Given the description of an element on the screen output the (x, y) to click on. 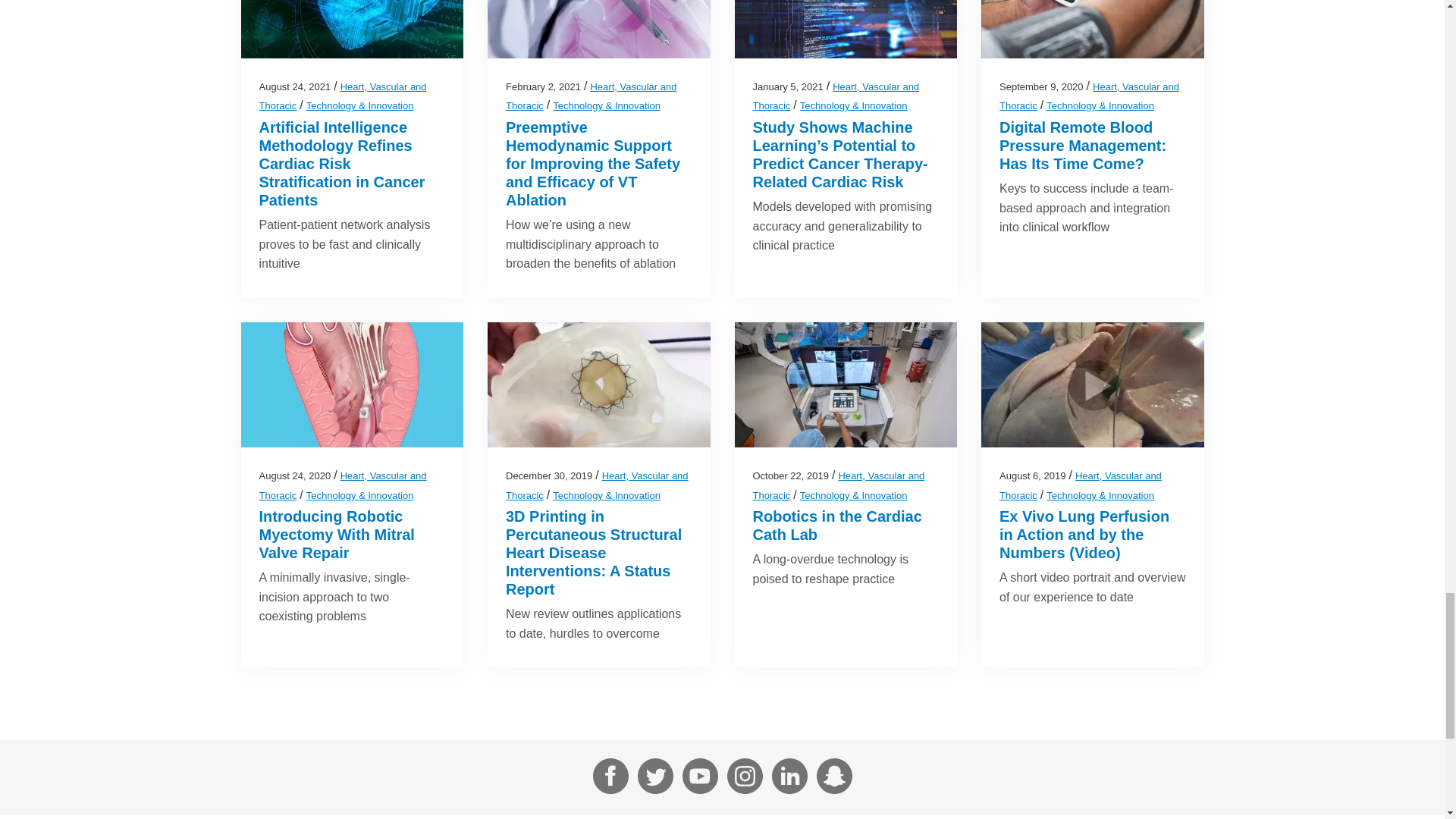
Heart, Vascular and Thoracic (591, 96)
Heart, Vascular and Thoracic (342, 96)
